Given the description of an element on the screen output the (x, y) to click on. 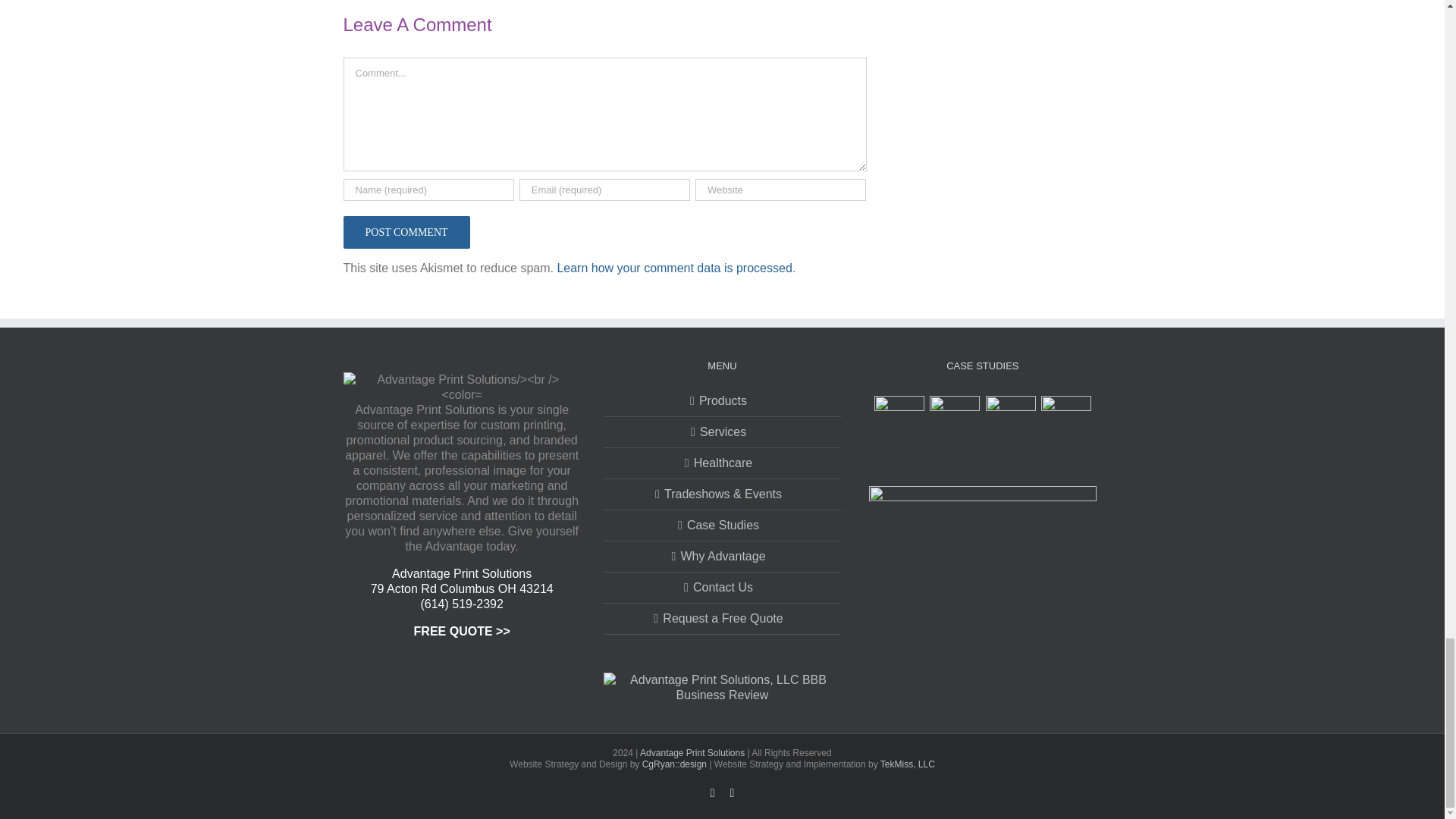
Hand and Microsurgery Associates (898, 420)
The Gentle Dentist (954, 420)
CTL Engineering (1067, 420)
Post Comment (405, 232)
Mount Carmel School of Nursing (1010, 420)
BBB Logo and Link (722, 687)
